Given the description of an element on the screen output the (x, y) to click on. 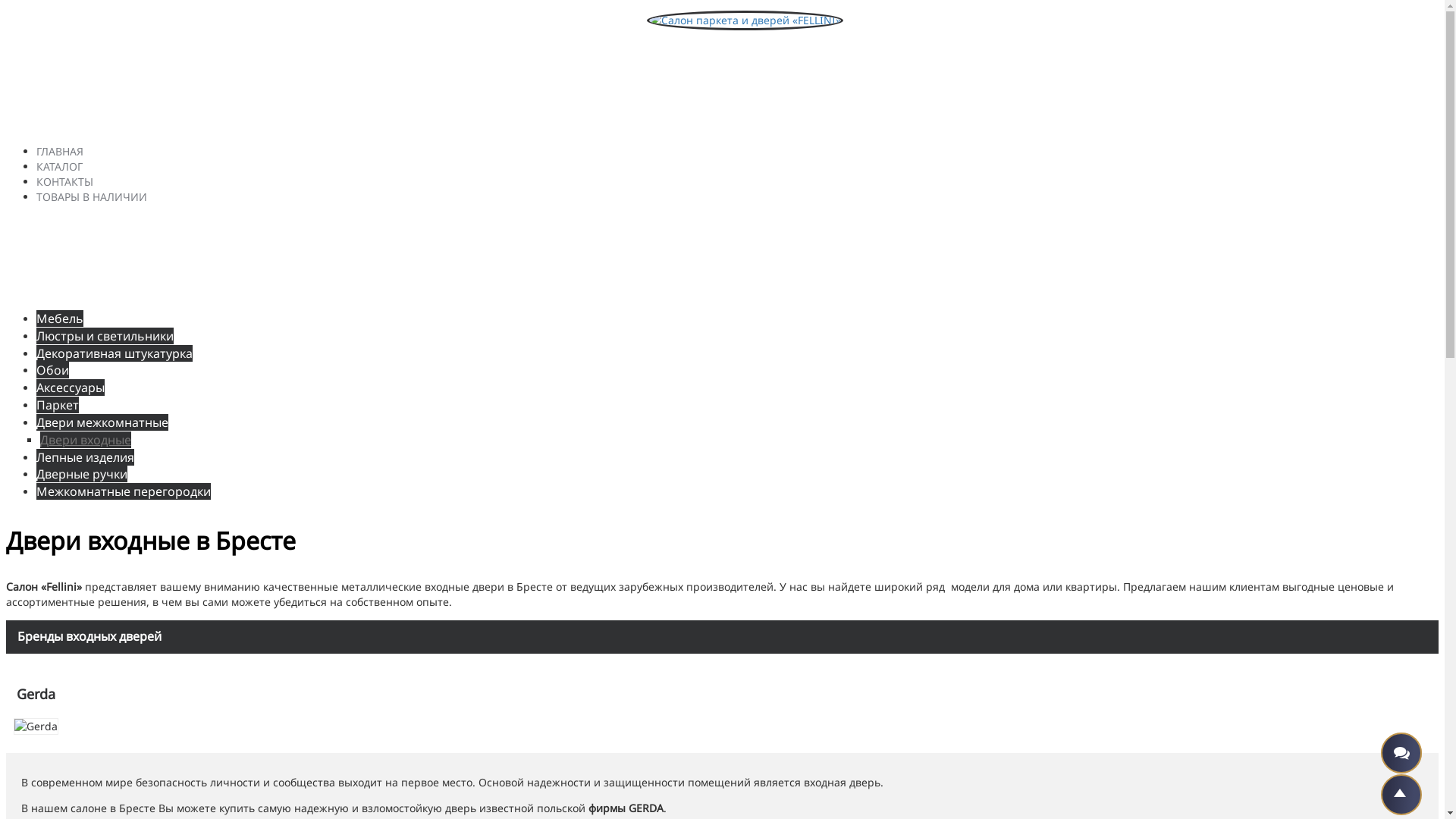
+375 (29) 352-50-50 Element type: text (76, 124)
+375 (33) 352-50-50 Element type: text (76, 95)
Gerda Element type: text (35, 694)
